Given the description of an element on the screen output the (x, y) to click on. 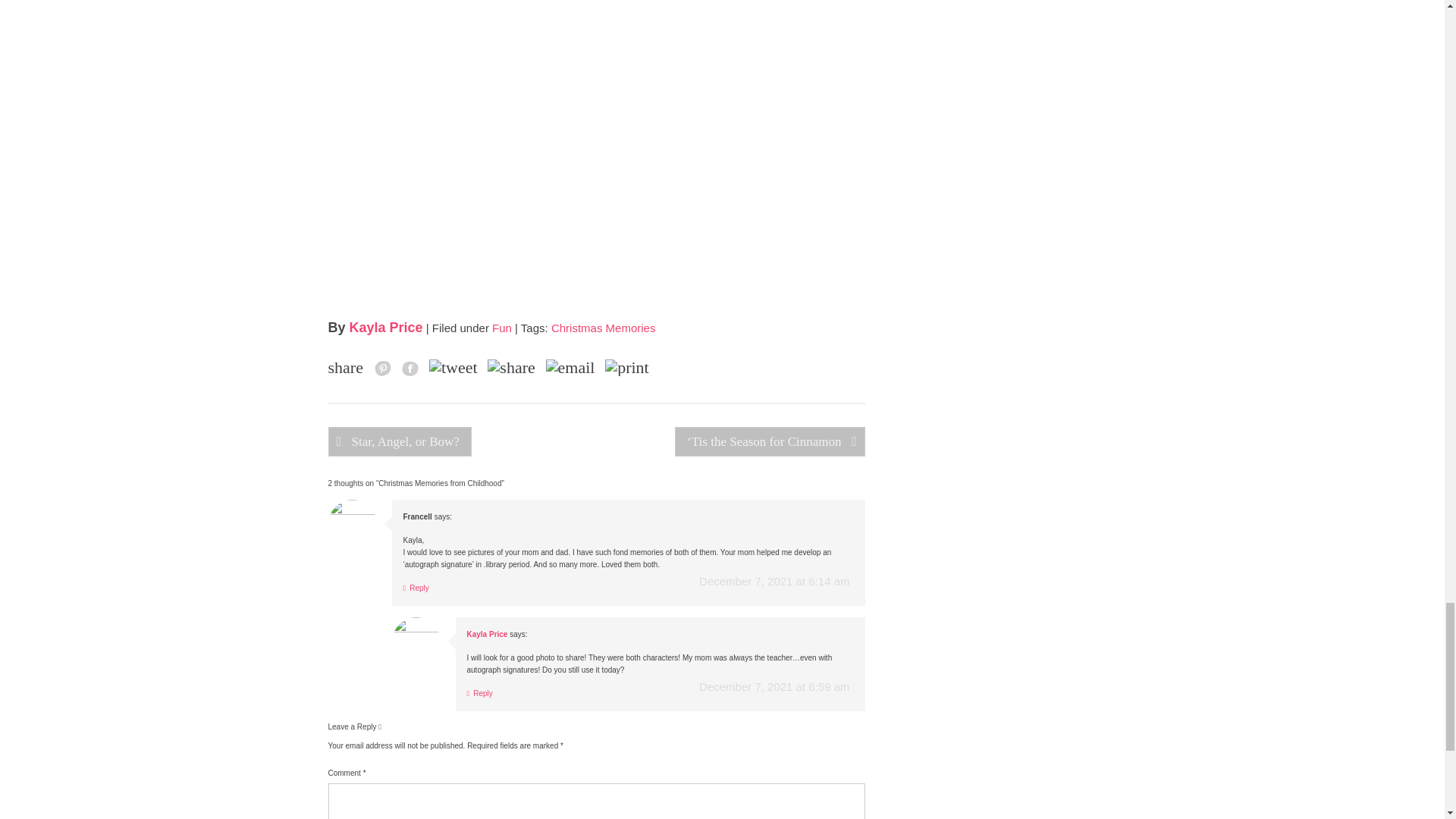
Kayla Price (386, 327)
Kayla Price (487, 633)
Christmas Memories (603, 327)
December 7, 2021 at 6:14 am (773, 581)
Reply (480, 693)
Fun (502, 327)
December 7, 2021 at 6:59 am (773, 686)
Star, Angel, or Bow? (398, 441)
Reply (416, 587)
Share by Email (570, 367)
